Given the description of an element on the screen output the (x, y) to click on. 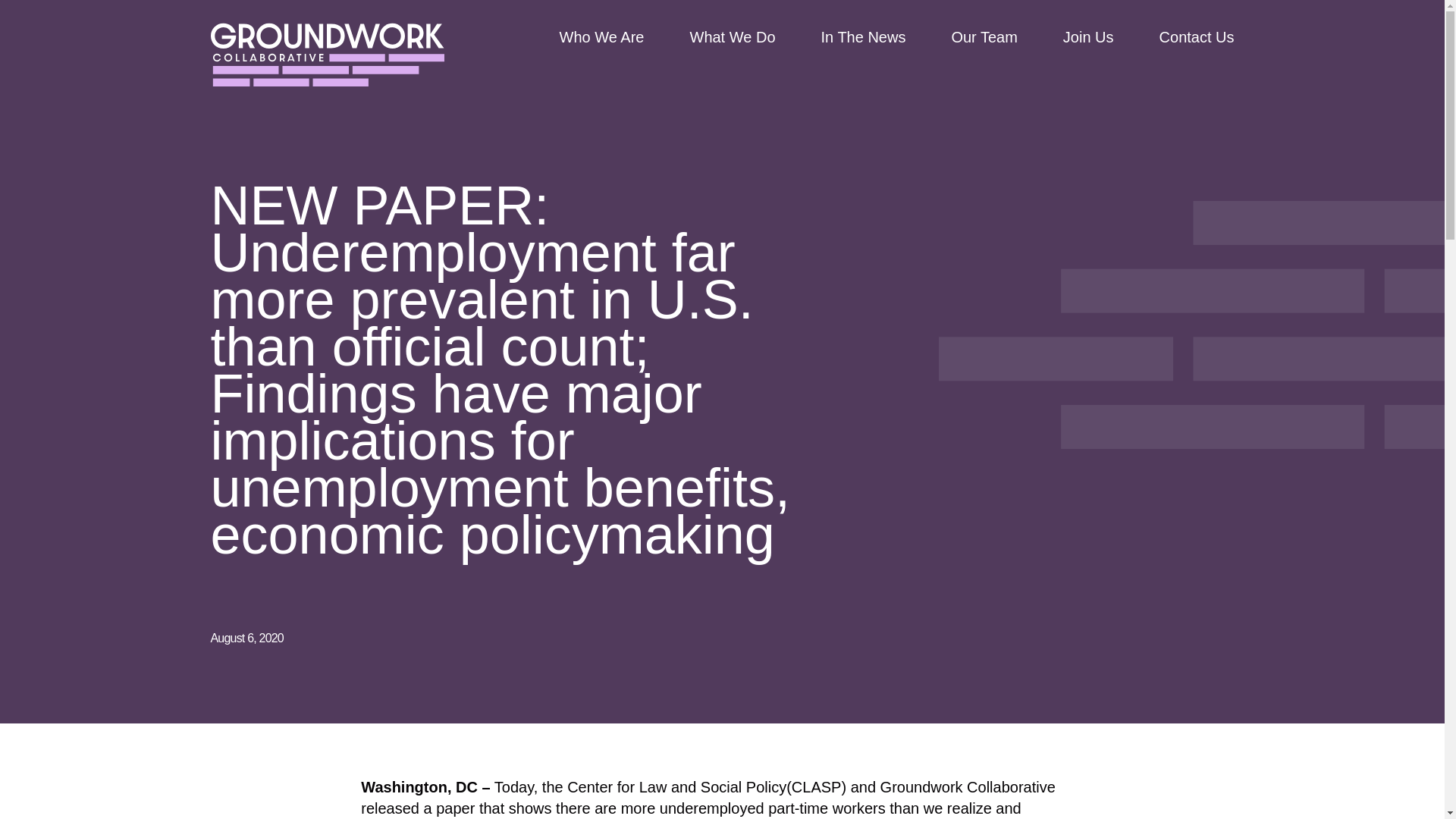
What We Do (733, 36)
Contact Us (1196, 36)
Who We Are (602, 36)
Join Us (1087, 36)
In The News (863, 36)
Our Team (983, 36)
